Given the description of an element on the screen output the (x, y) to click on. 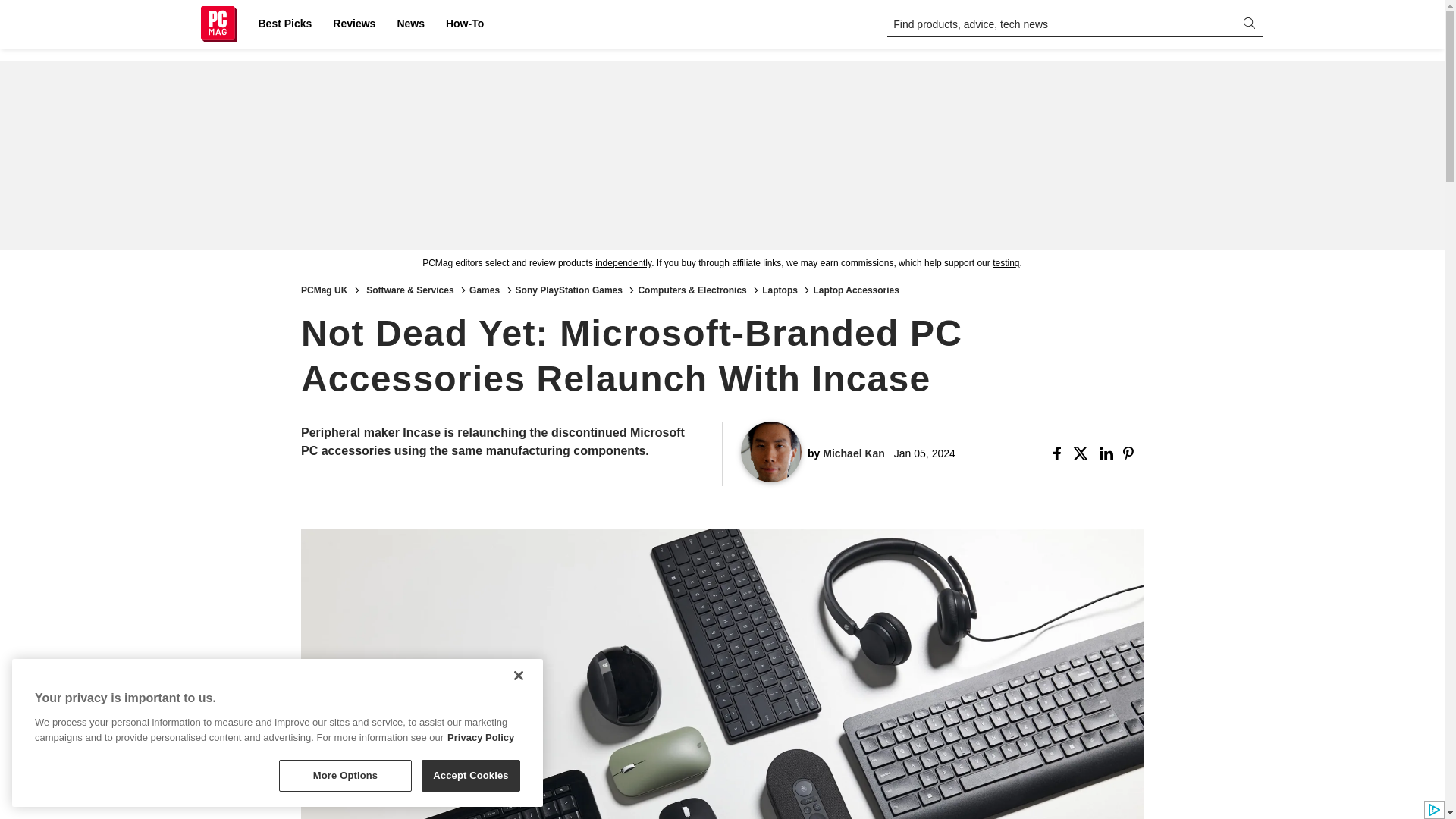
Best Picks (284, 24)
Share this Story on Linkedin (1107, 453)
Share this Story on X (1083, 453)
3rd party ad content (721, 155)
Share this Story on Pinterest (1132, 453)
Share this Story on Facebook (1059, 453)
